Given the description of an element on the screen output the (x, y) to click on. 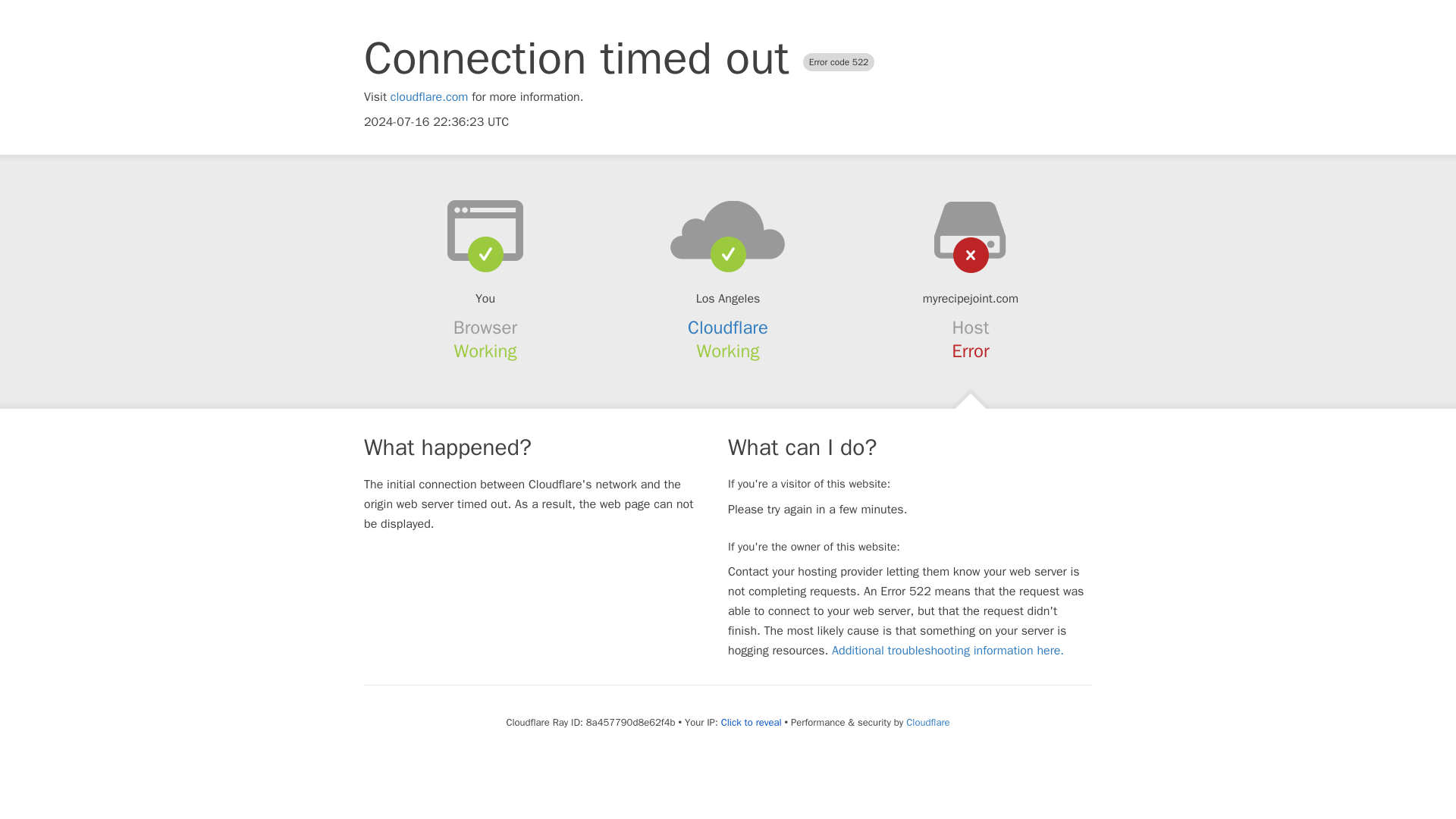
Cloudflare (927, 721)
Additional troubleshooting information here. (947, 650)
Cloudflare (727, 327)
cloudflare.com (429, 96)
Click to reveal (750, 722)
